Given the description of an element on the screen output the (x, y) to click on. 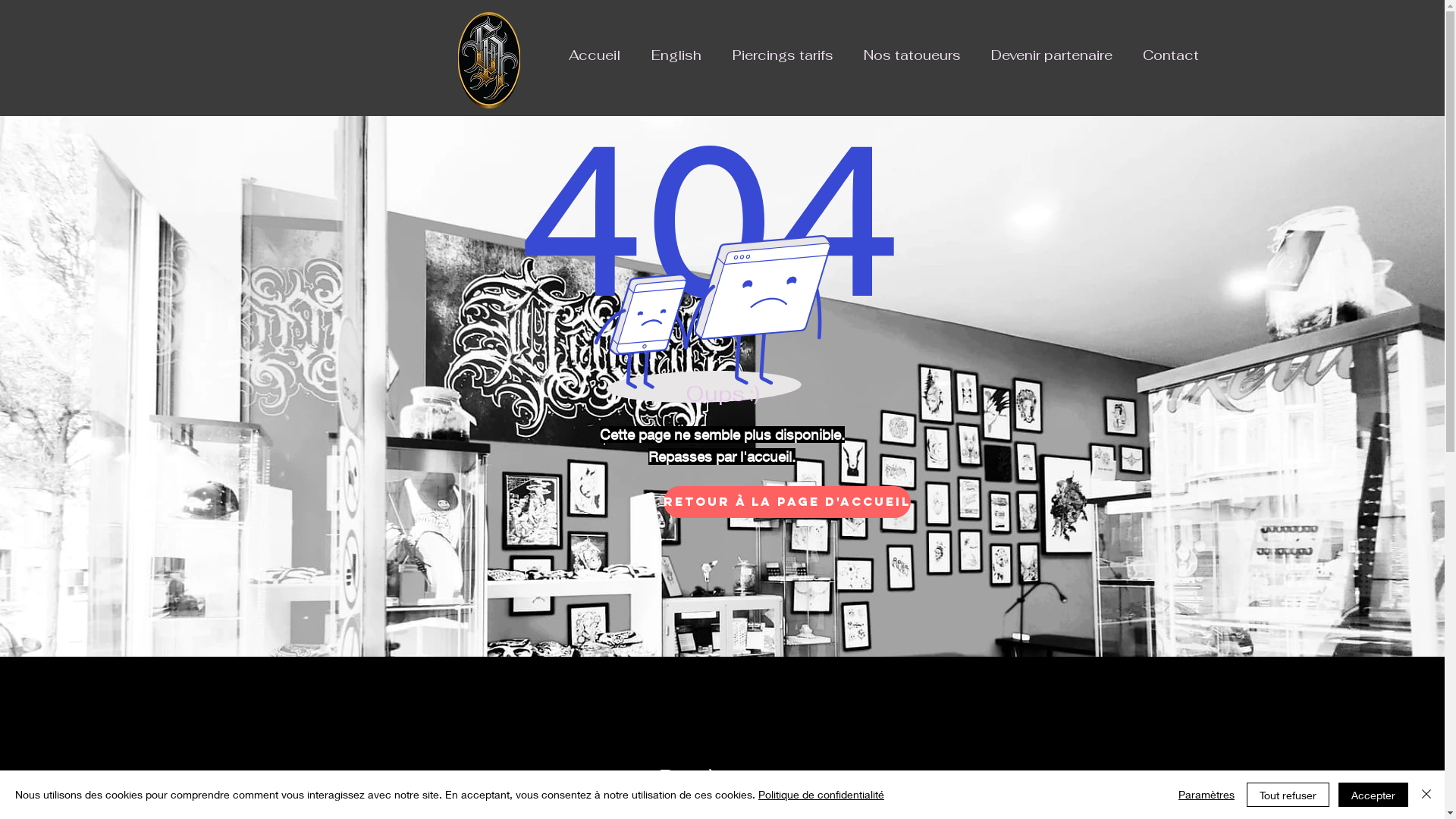
Nos tatoueurs Element type: text (911, 55)
Piercings tarifs Element type: text (782, 55)
Accueil Element type: text (593, 55)
English Element type: text (675, 55)
Contact Element type: text (1170, 55)
Devenir partenaire Element type: text (1051, 55)
